Given the description of an element on the screen output the (x, y) to click on. 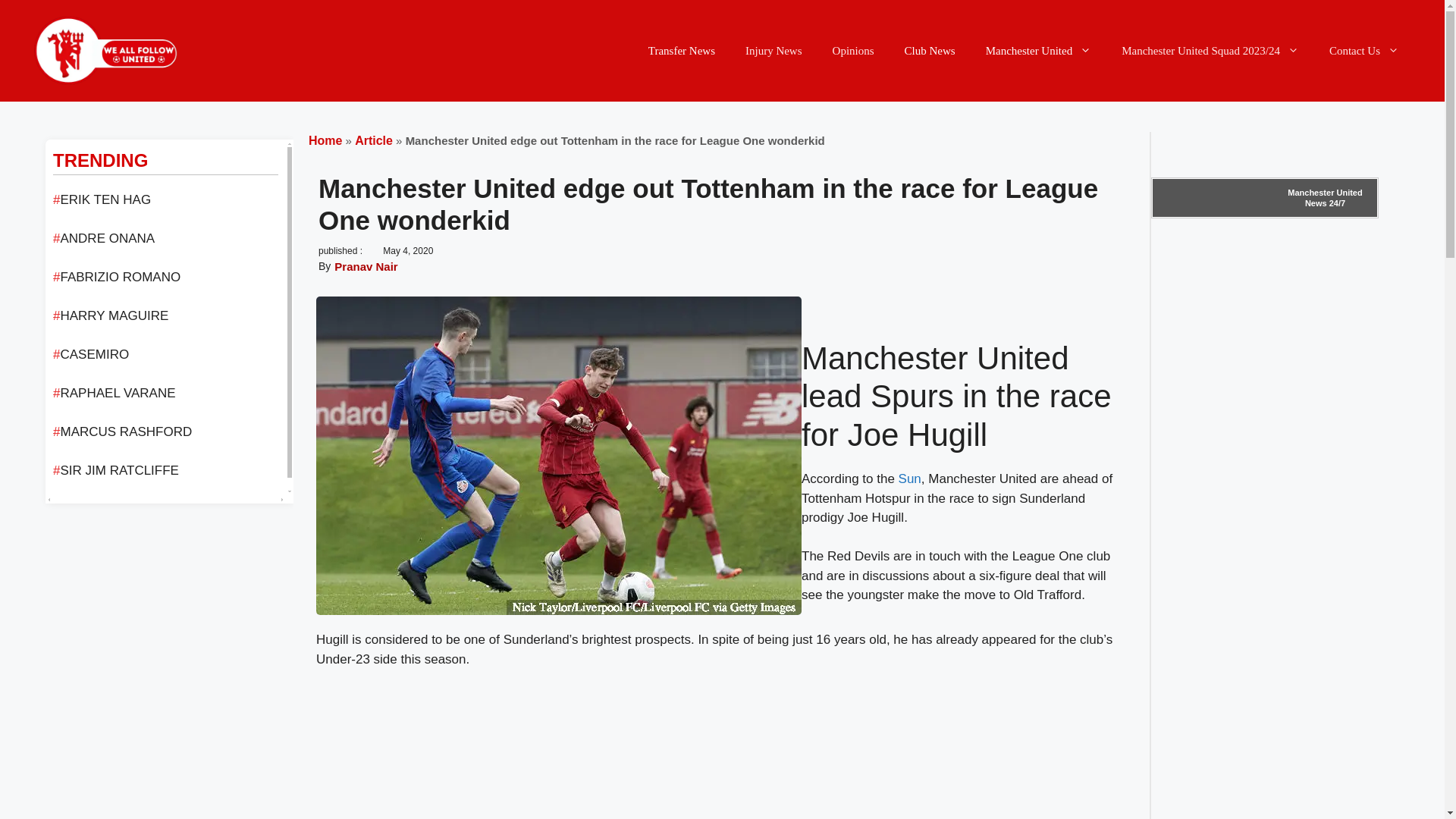
Injury News (773, 50)
Transfer News (681, 50)
Click here for more Manchester United news from NewsNow (1264, 197)
Opinions (852, 50)
Club News (930, 50)
Manchester United (1038, 50)
